Given the description of an element on the screen output the (x, y) to click on. 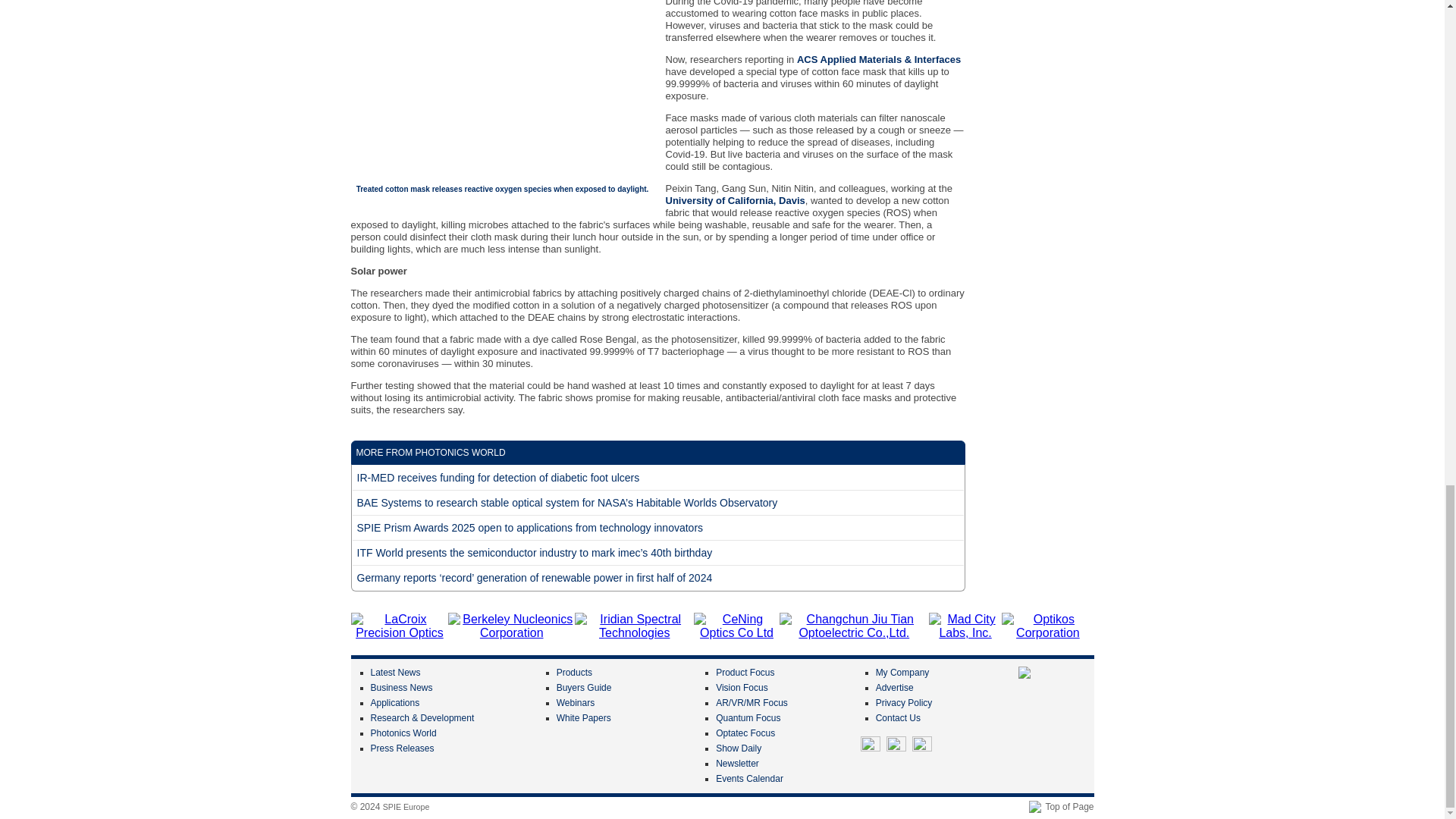
Twitter (870, 745)
RSS Feeds (921, 745)
LinkedIn (895, 745)
